Given the description of an element on the screen output the (x, y) to click on. 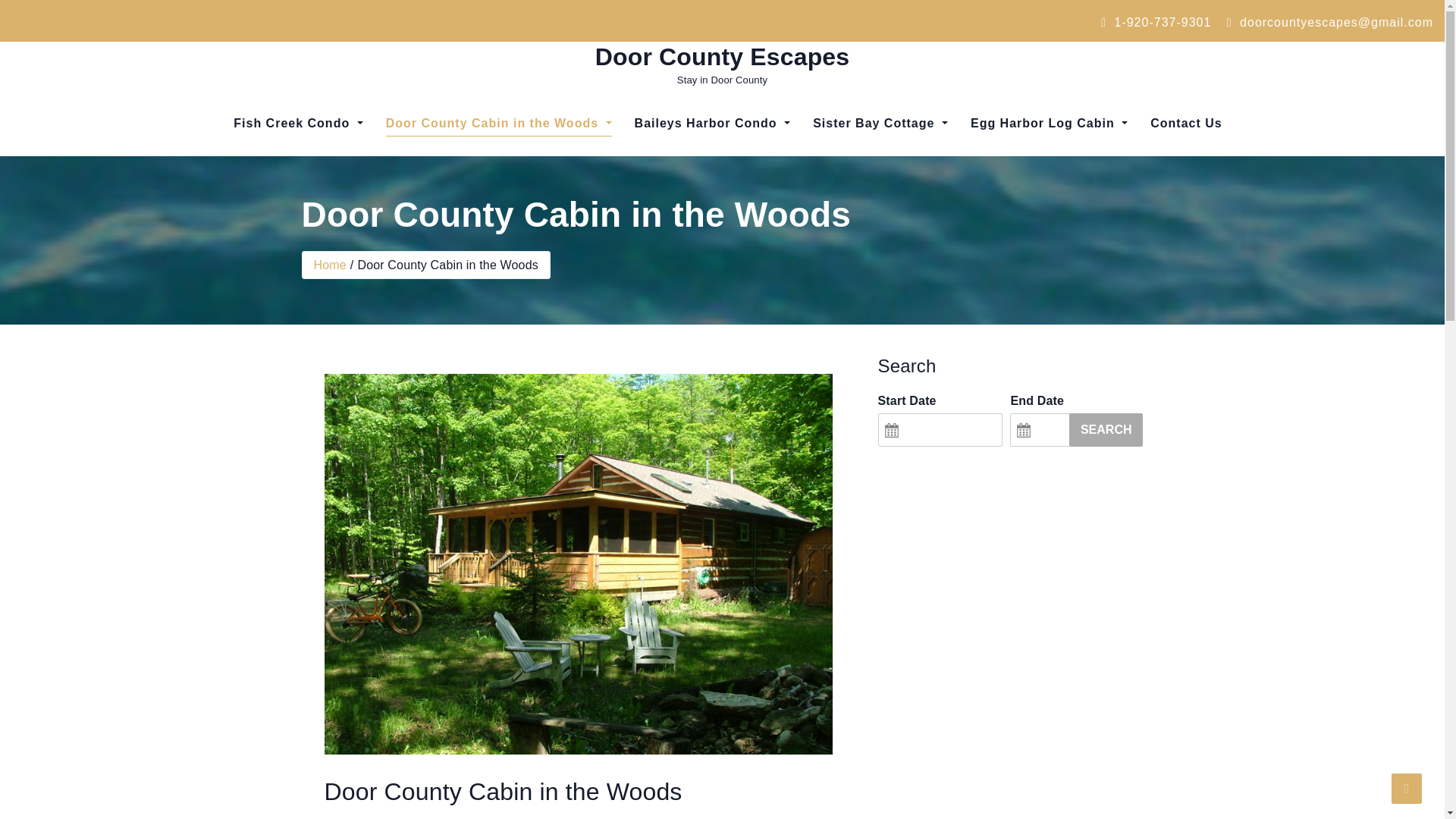
Fish Creek Condo (298, 122)
Accommodations (470, 170)
Door County Cabin in the Woods (498, 122)
Door County Cabin in the Woods (498, 122)
Things to Do in Door County (712, 181)
Accommodations (298, 170)
Things to Do in Door County (880, 181)
Sister Bay Cottage (880, 122)
Accommodations (470, 170)
1-920-737-9301 (1155, 21)
